Given the description of an element on the screen output the (x, y) to click on. 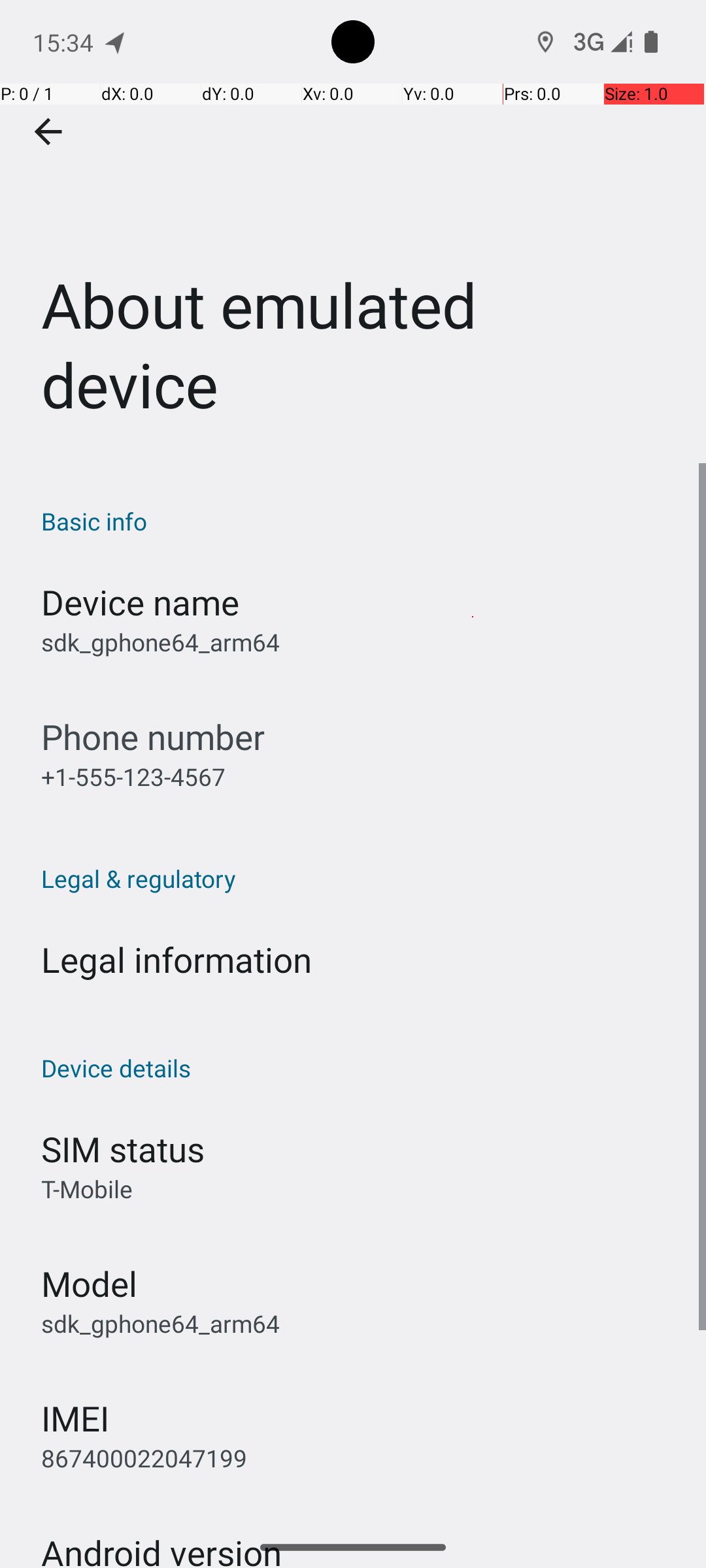
About emulated device Element type: android.widget.FrameLayout (353, 231)
Basic info Element type: android.widget.TextView (359, 520)
Device name Element type: android.widget.TextView (140, 601)
Phone number Element type: android.widget.TextView (152, 736)
+1-555-123-4567 Element type: android.widget.TextView (133, 776)
Legal & regulatory Element type: android.widget.TextView (359, 878)
Legal information Element type: android.widget.TextView (176, 959)
Device details Element type: android.widget.TextView (359, 1067)
SIM status Element type: android.widget.TextView (122, 1148)
T-Mobile Element type: android.widget.TextView (86, 1188)
Model Element type: android.widget.TextView (89, 1283)
IMEI Element type: android.widget.TextView (75, 1417)
867400022047199 Element type: android.widget.TextView (144, 1457)
